Given the description of an element on the screen output the (x, y) to click on. 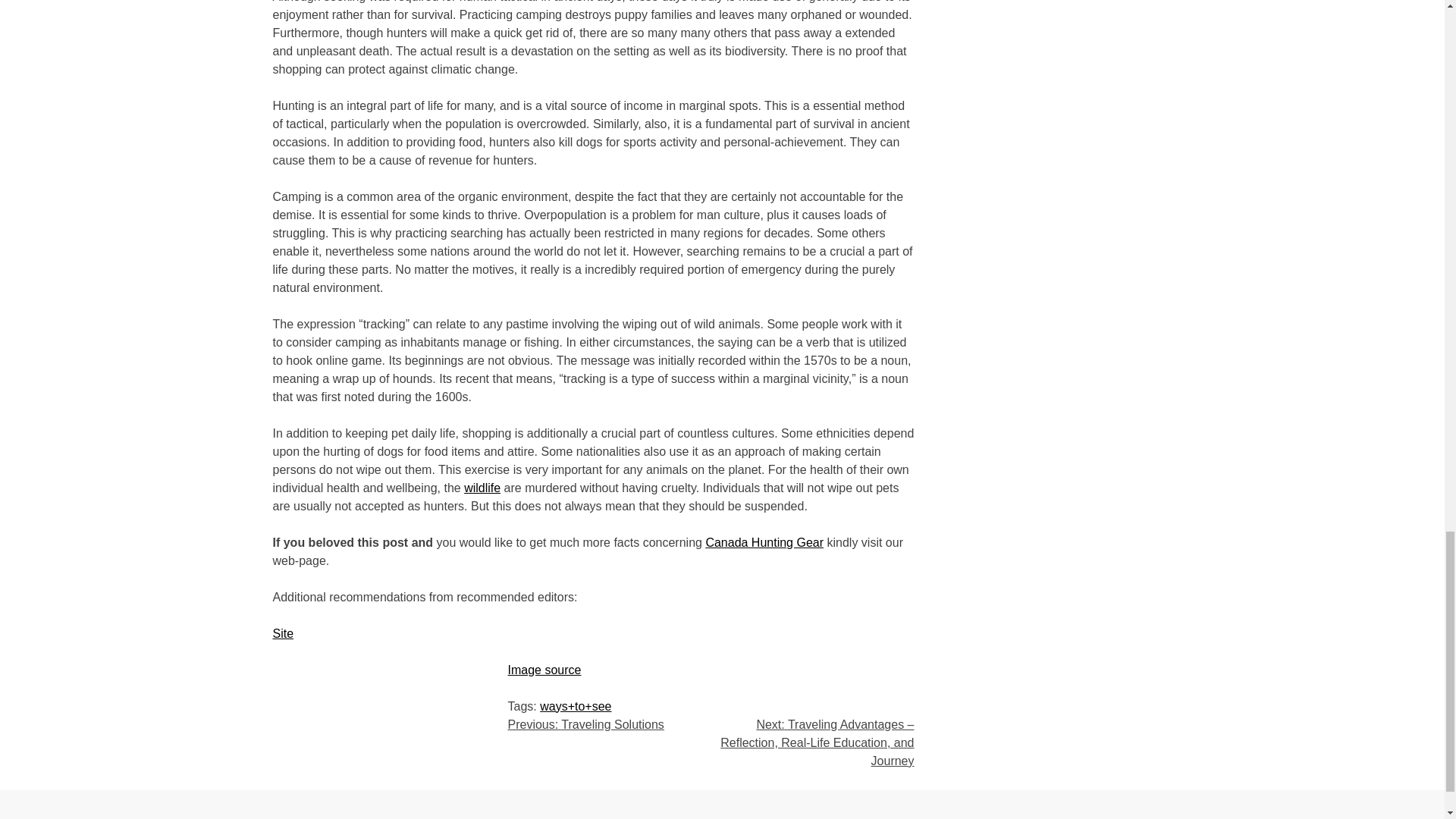
wildlife (482, 486)
Site (283, 632)
Canada Hunting Gear (764, 541)
Previous: Traveling Solutions (585, 723)
Image source (544, 668)
